Given the description of an element on the screen output the (x, y) to click on. 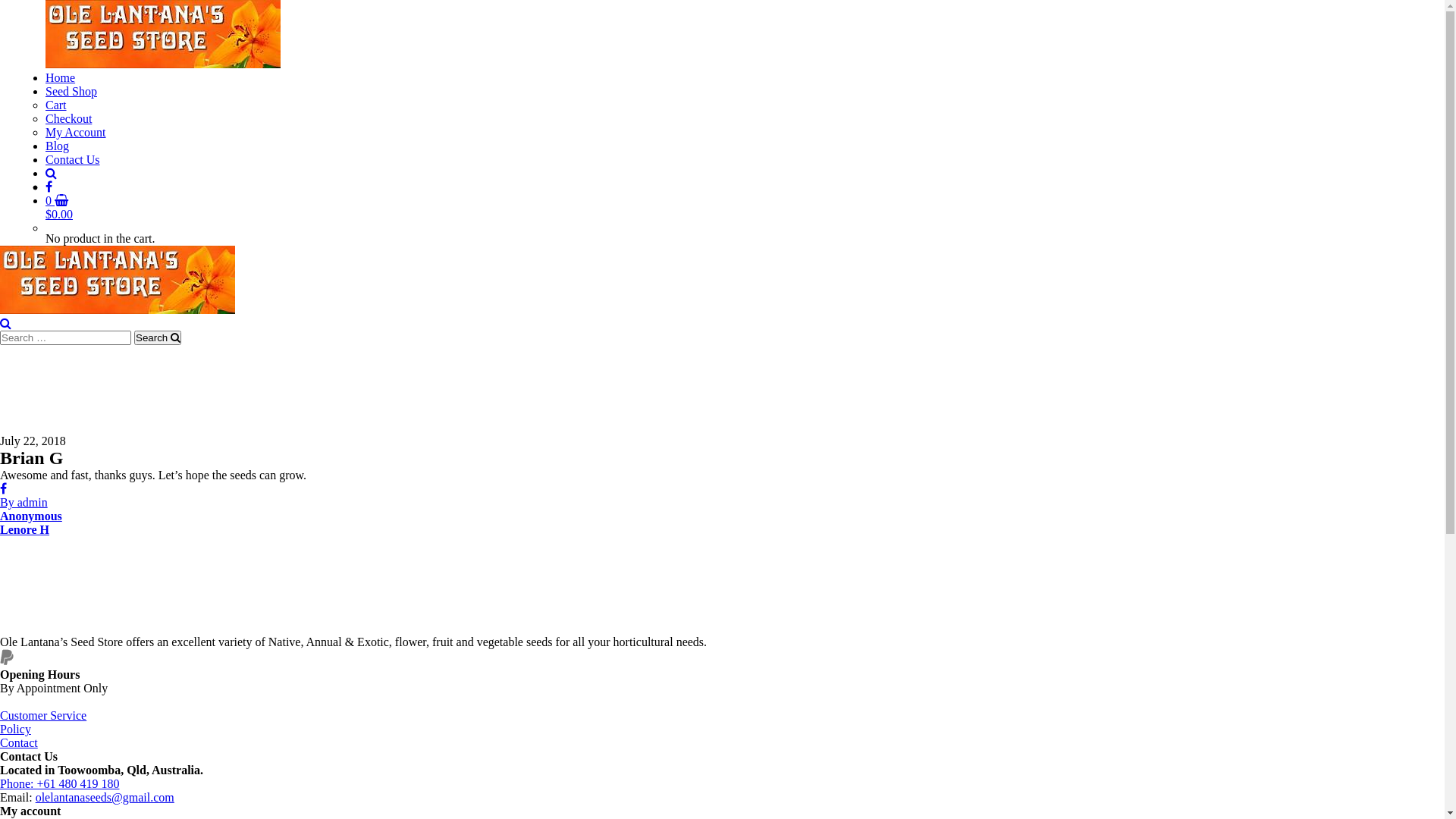
Lenore H Element type: text (24, 529)
Checkout Element type: text (68, 118)
Phone: +61 480 419 180 Element type: text (59, 783)
Search Element type: text (157, 337)
Anonymous Element type: text (31, 515)
Home Element type: text (60, 77)
Contact Us Element type: text (72, 159)
$0.00 Element type: text (58, 213)
Customer Service Element type: text (43, 715)
Policy Element type: text (15, 728)
Facebook Element type: hover (48, 186)
Contact Element type: text (18, 742)
Seed Shop Element type: text (71, 90)
0 Element type: text (56, 200)
Blog Element type: text (57, 145)
Cart Element type: text (55, 104)
Facebook Element type: hover (3, 488)
By admin Element type: text (23, 501)
My Account Element type: text (75, 131)
olelantanaseeds@gmail.com Element type: text (104, 796)
